Given the description of an element on the screen output the (x, y) to click on. 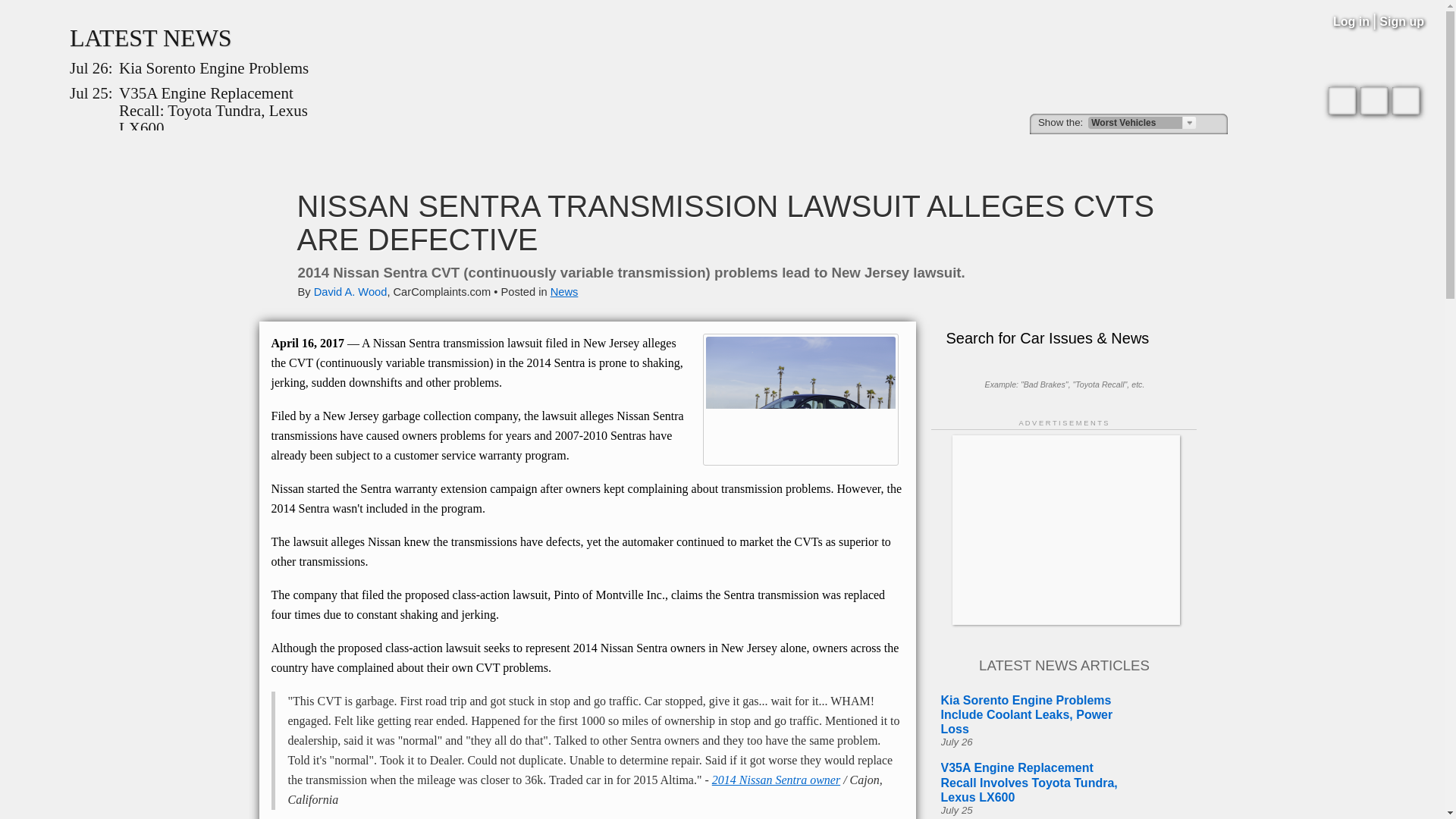
view car problems (309, 153)
update car complaints (966, 153)
Sign up (1400, 21)
Go (1213, 123)
car problem resources (381, 153)
Car Complaints, Problems and Defect Information (721, 67)
David A. Wood (350, 291)
car recalls (633, 153)
2014 Nissan Sentra owner (775, 779)
search car problems (1111, 153)
Worst Vehicles (1141, 122)
V35A Engine Replacement Recall: Toyota Tundra, Lexus LX600 (216, 111)
Go (1213, 123)
Car Complaint and Recall News (150, 37)
